Given the description of an element on the screen output the (x, y) to click on. 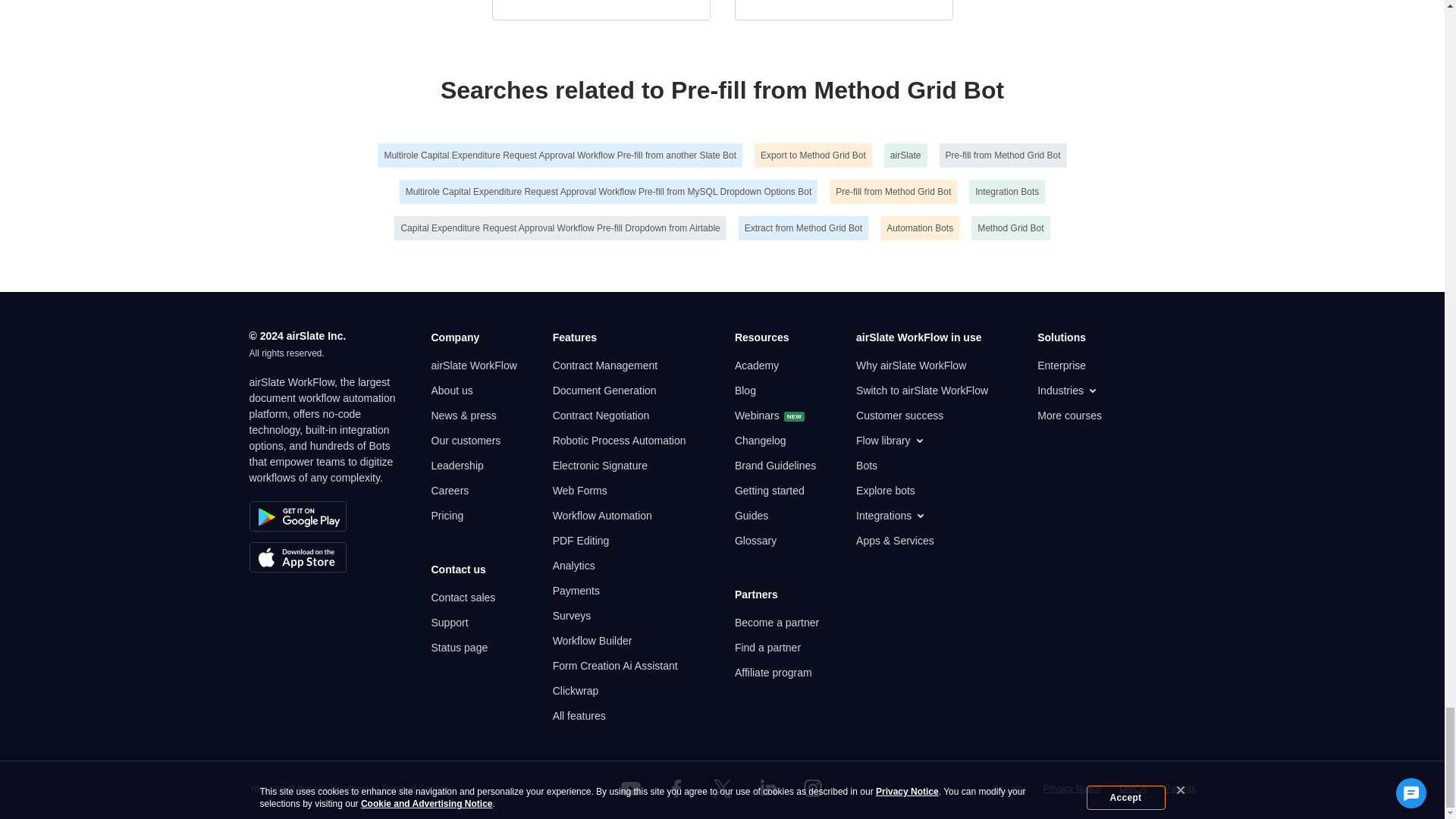
LinkedIn (767, 788)
Twitter (721, 788)
Facebook (676, 788)
Instagram (812, 788)
YouTube (630, 788)
